Given the description of an element on the screen output the (x, y) to click on. 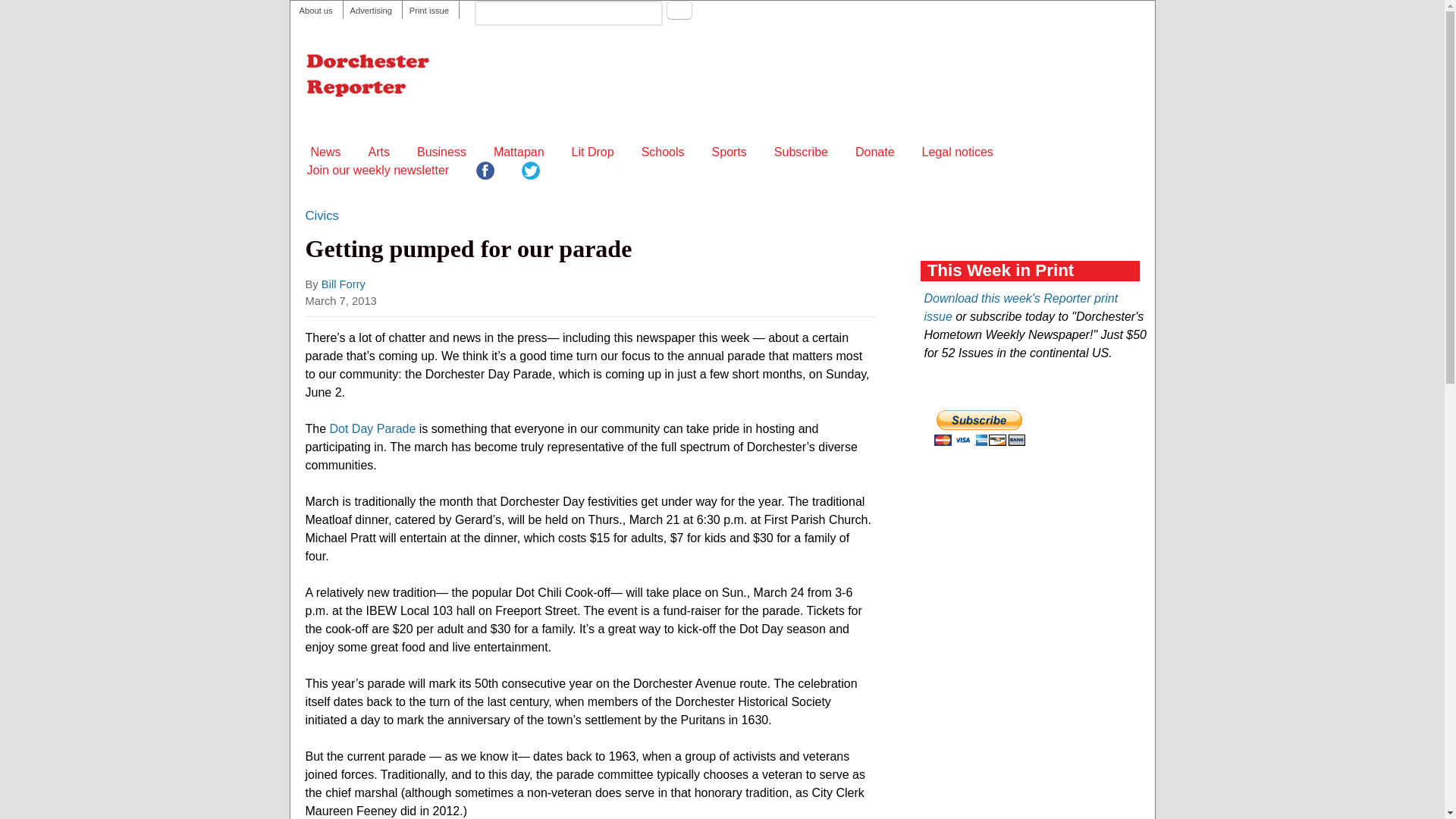
Civics (320, 215)
How to advertise in the Reporter and on dotnews.com (371, 10)
Legal notices (956, 152)
Lit Drop (593, 152)
The DotNews Twitter feed (530, 173)
View user profile. (343, 284)
Bill Forry (343, 284)
Dot Day Parade (373, 428)
Subscribe (801, 152)
Mattapan (518, 152)
Business (440, 152)
About us (315, 10)
Reporter on Facebook (485, 173)
Dorchester Reporter weekly print issue (428, 10)
